Given the description of an element on the screen output the (x, y) to click on. 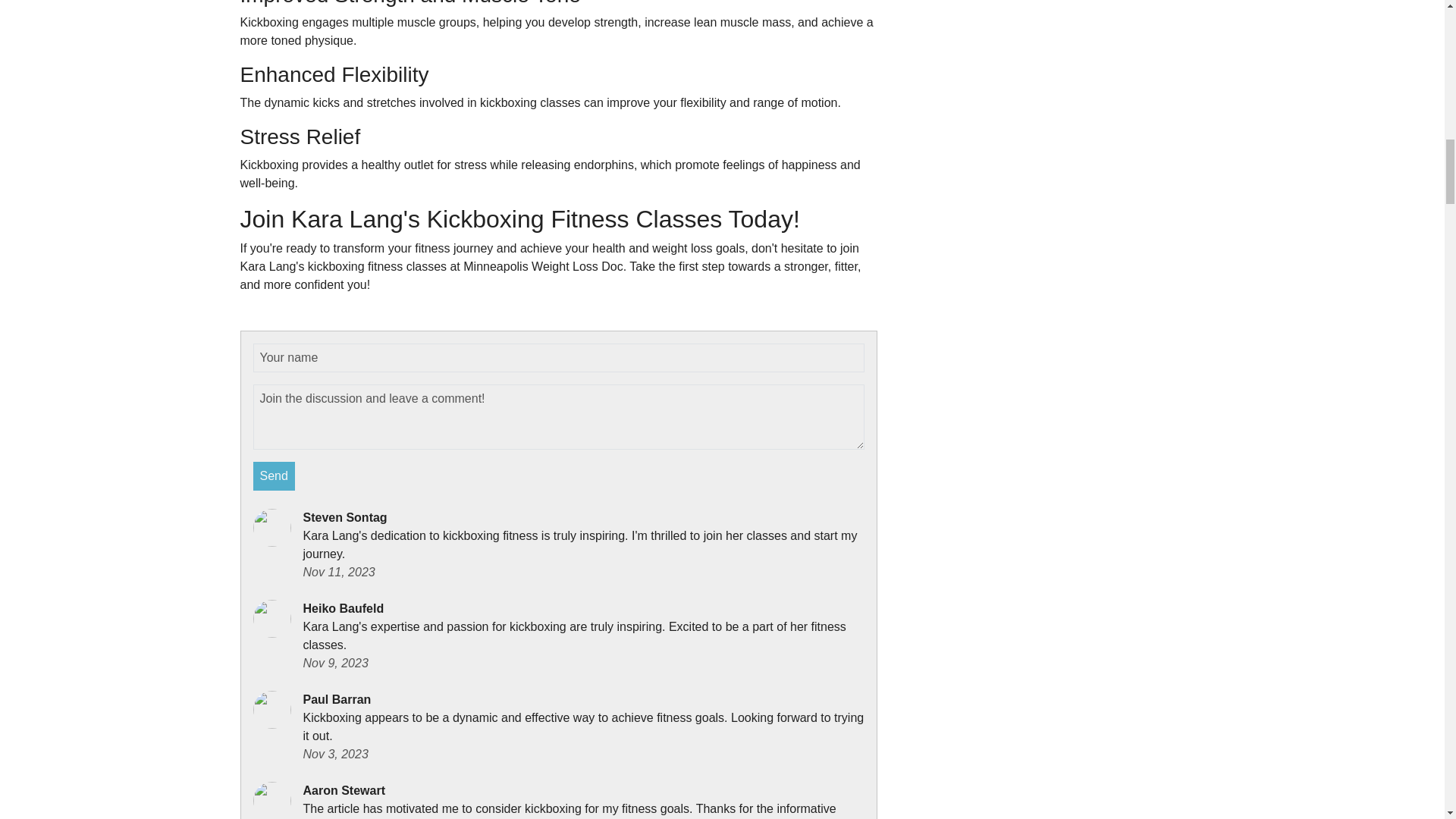
Send (274, 475)
Send (274, 475)
